Given the description of an element on the screen output the (x, y) to click on. 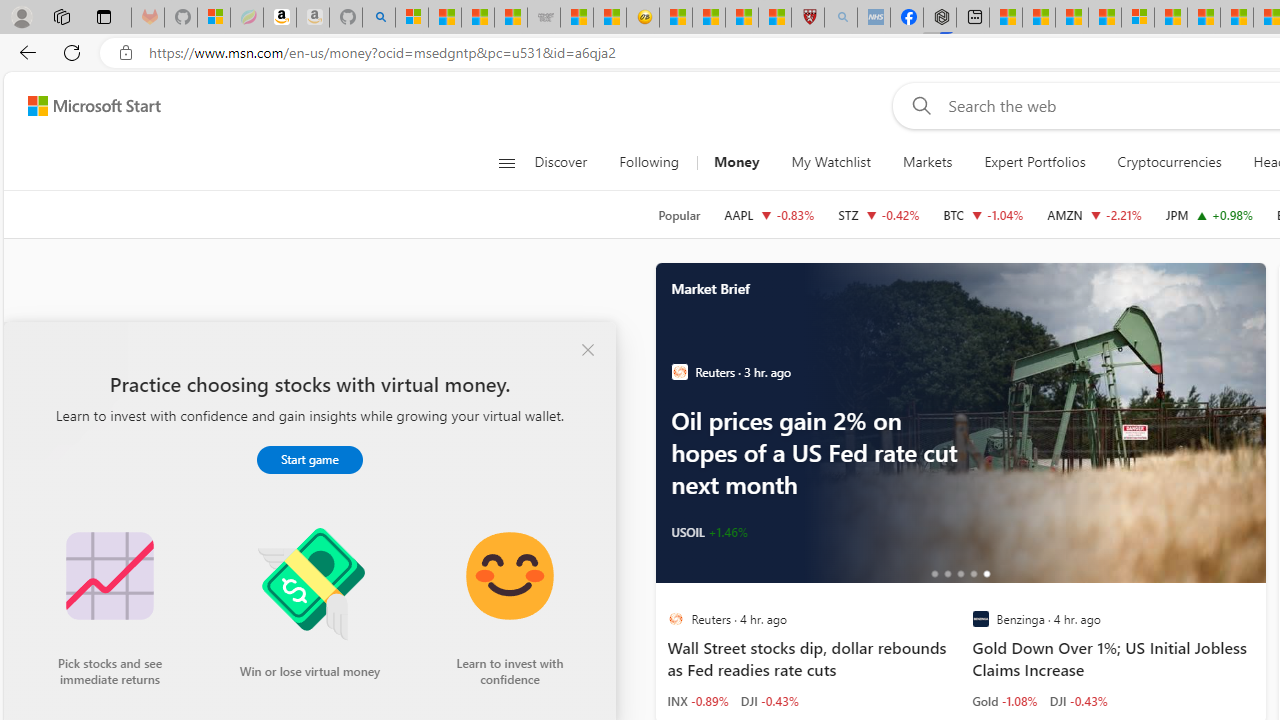
Refresh (72, 52)
Following (648, 162)
Money (736, 162)
NCL Adult Asthma Inhaler Choice Guideline - Sleeping (873, 17)
STZ CONSTELLATION BRANDS, INC. decrease 243.70 -1.04 -0.42% (878, 214)
MSNBC - MSN (478, 17)
12 Popular Science Lies that Must be Corrected (775, 17)
Tab actions menu (104, 16)
show card (40, 359)
Web search (917, 105)
Following (649, 162)
BTC Bitcoin decrease 60,607.86 -629.74 -1.04% (982, 214)
14 Common Myths Debunked By Scientific Facts (1237, 17)
